Given the description of an element on the screen output the (x, y) to click on. 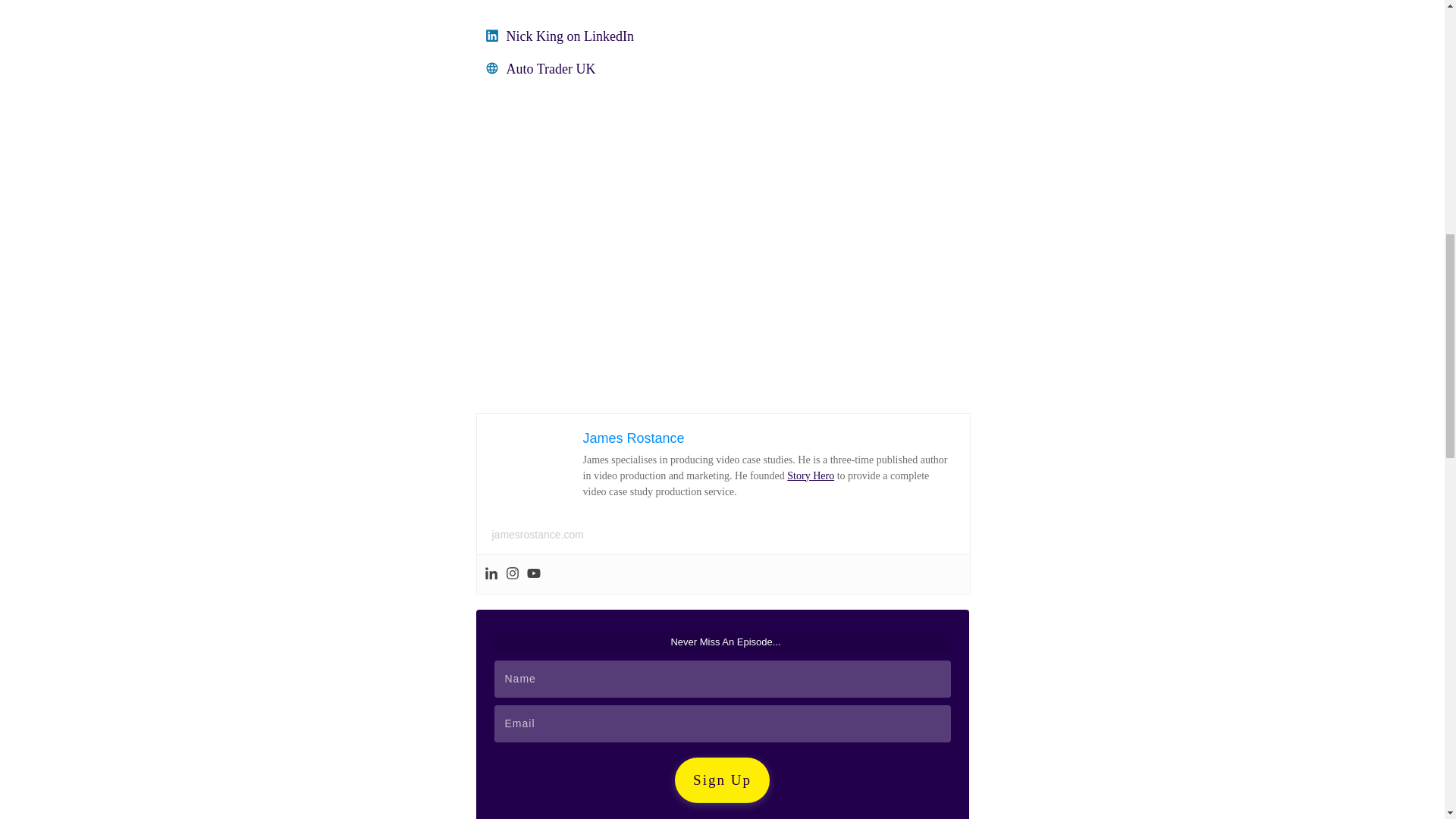
jamesrostance.com (537, 534)
Sign Up (722, 780)
Nick King on LinkedIn (569, 36)
James Rostance (633, 437)
Auto Trader UK (550, 68)
Story Hero (810, 475)
